Given the description of an element on the screen output the (x, y) to click on. 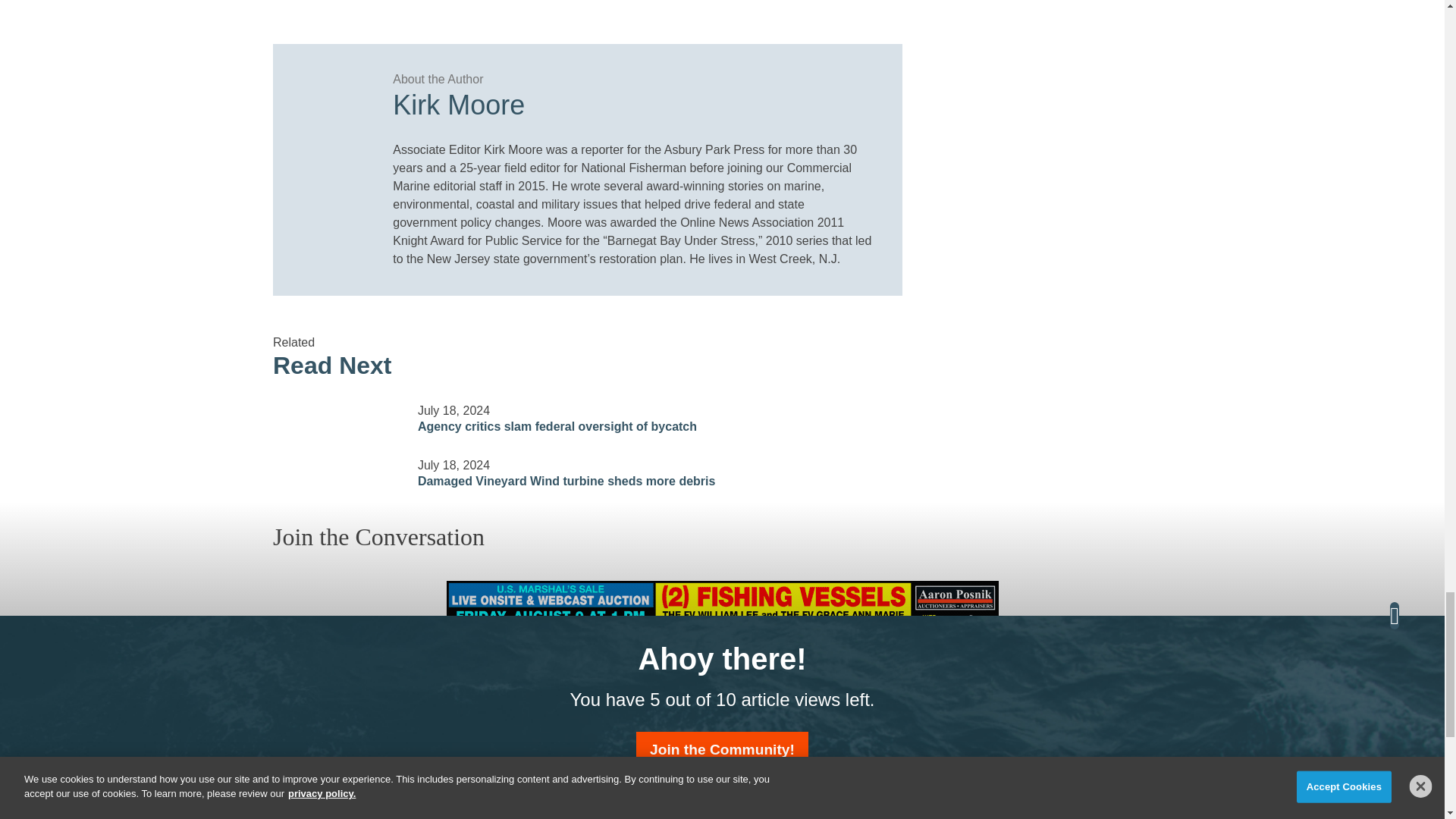
Kirk Moore (631, 100)
Agency critics slam federal oversight of bycatch (335, 409)
Damaged Vineyard Wind turbine sheds more debris (335, 463)
Kirk Moore (325, 96)
